Given the description of an element on the screen output the (x, y) to click on. 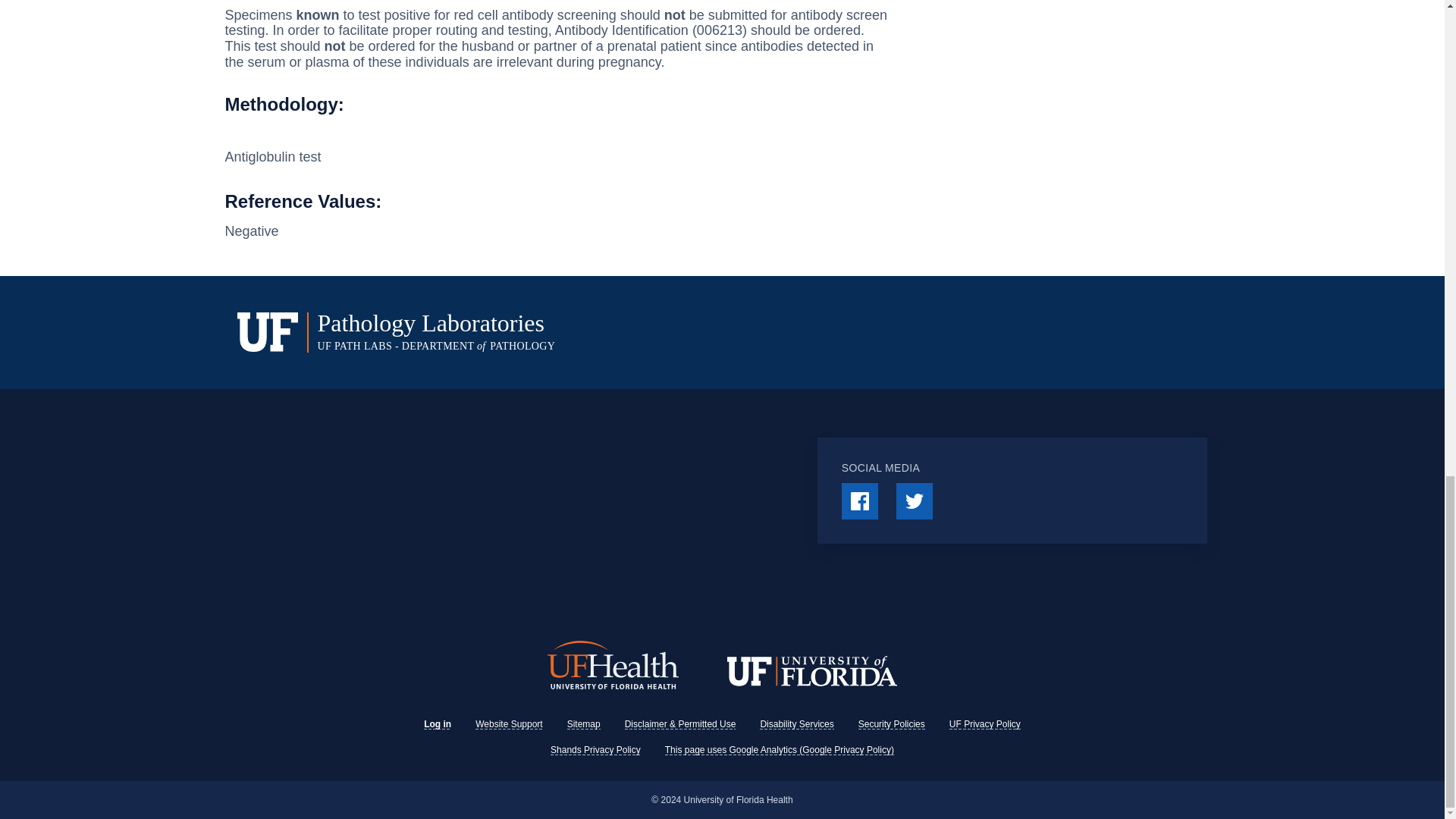
Security Policies (891, 724)
UF Privacy Policy (984, 724)
Shands Privacy Policy (595, 749)
Log in (437, 724)
Website Support (509, 724)
Disability Services (796, 724)
Sitemap (583, 724)
